Given the description of an element on the screen output the (x, y) to click on. 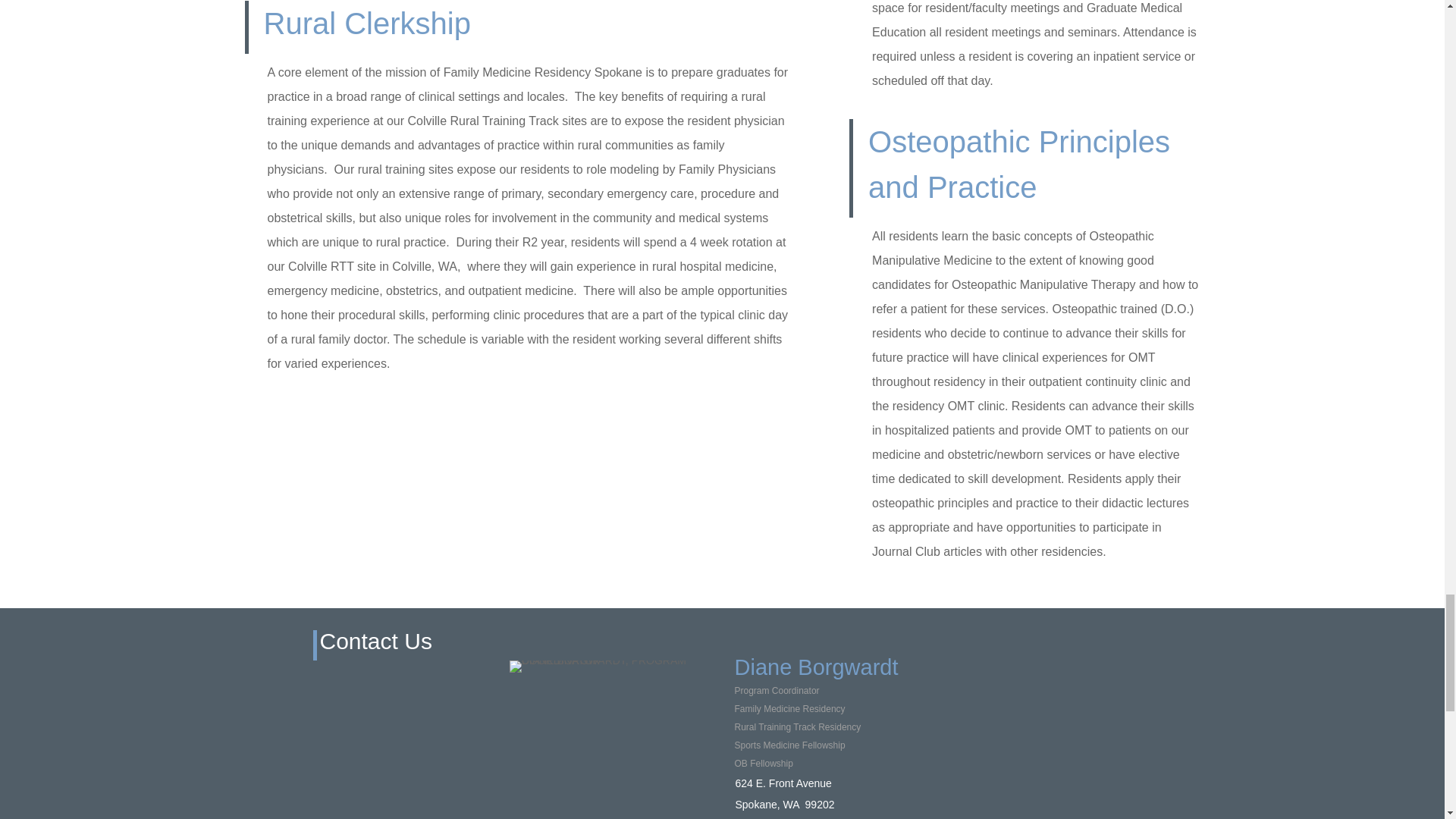
DianeBorgwardt (615, 666)
